Given the description of an element on the screen output the (x, y) to click on. 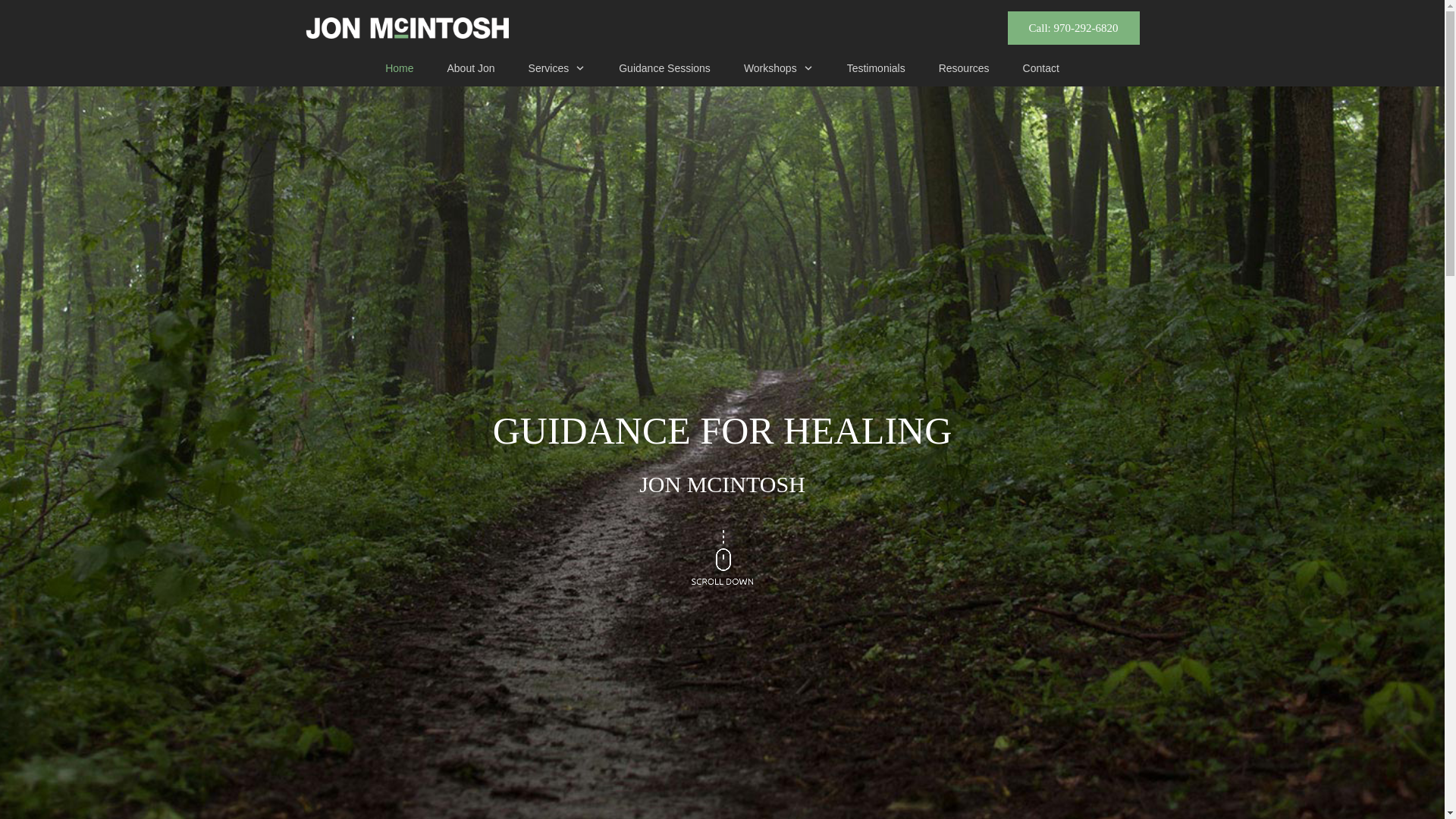
Call: 970-292-6820 (1073, 28)
Guidance Sessions (664, 67)
Resources (964, 67)
Services (557, 67)
Testimonials (876, 67)
Home (399, 67)
Workshops (778, 67)
Contact (1041, 67)
About Jon (470, 67)
